Given the description of an element on the screen output the (x, y) to click on. 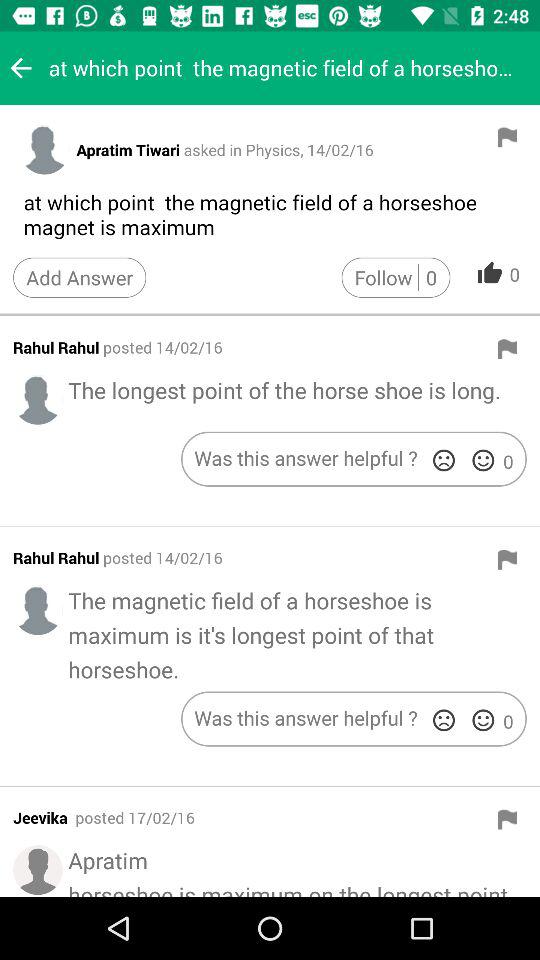
add profile photo (38, 399)
